Given the description of an element on the screen output the (x, y) to click on. 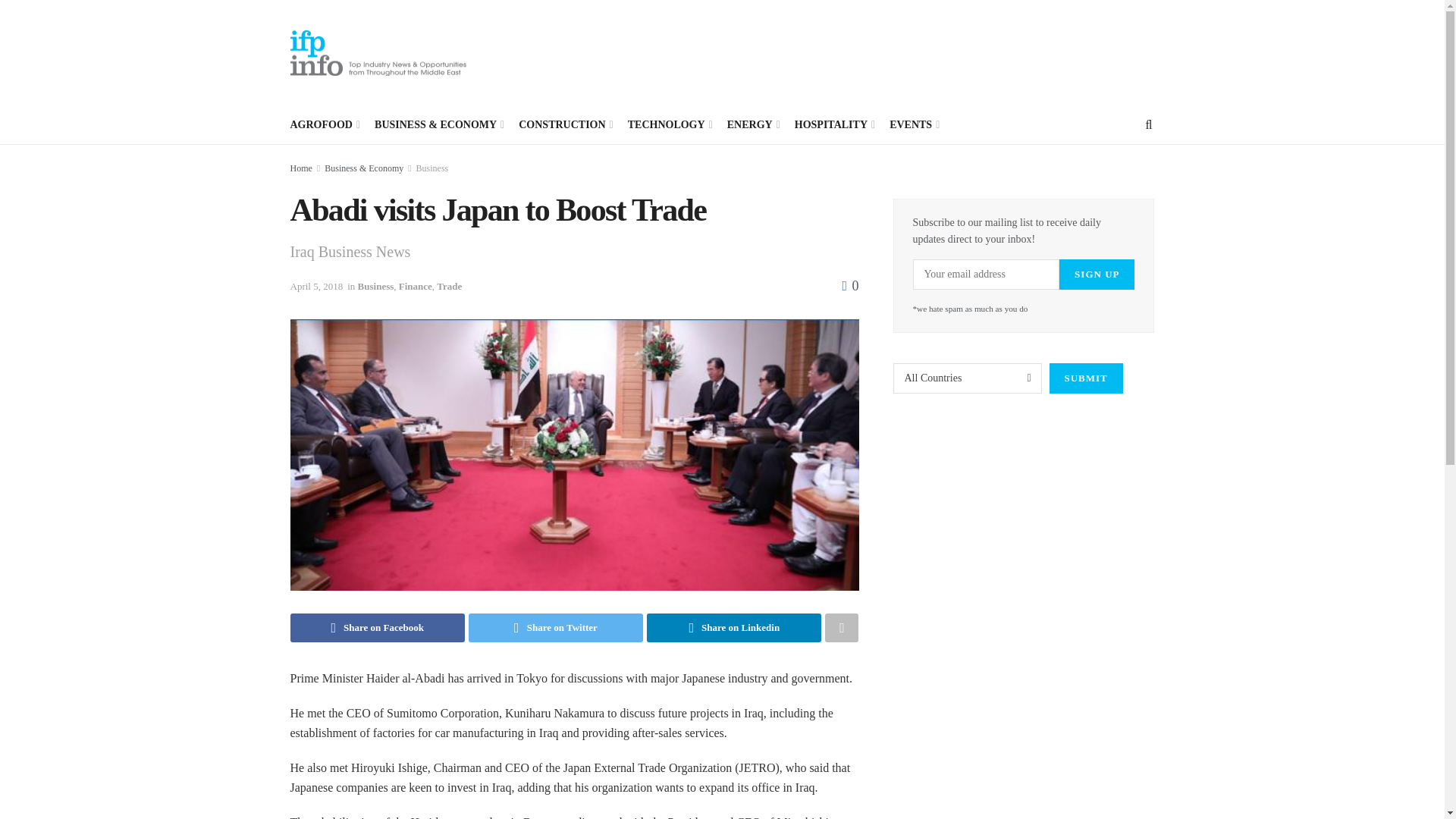
Sign up (1096, 274)
AGROFOOD (323, 124)
Submit (1085, 378)
